Given the description of an element on the screen output the (x, y) to click on. 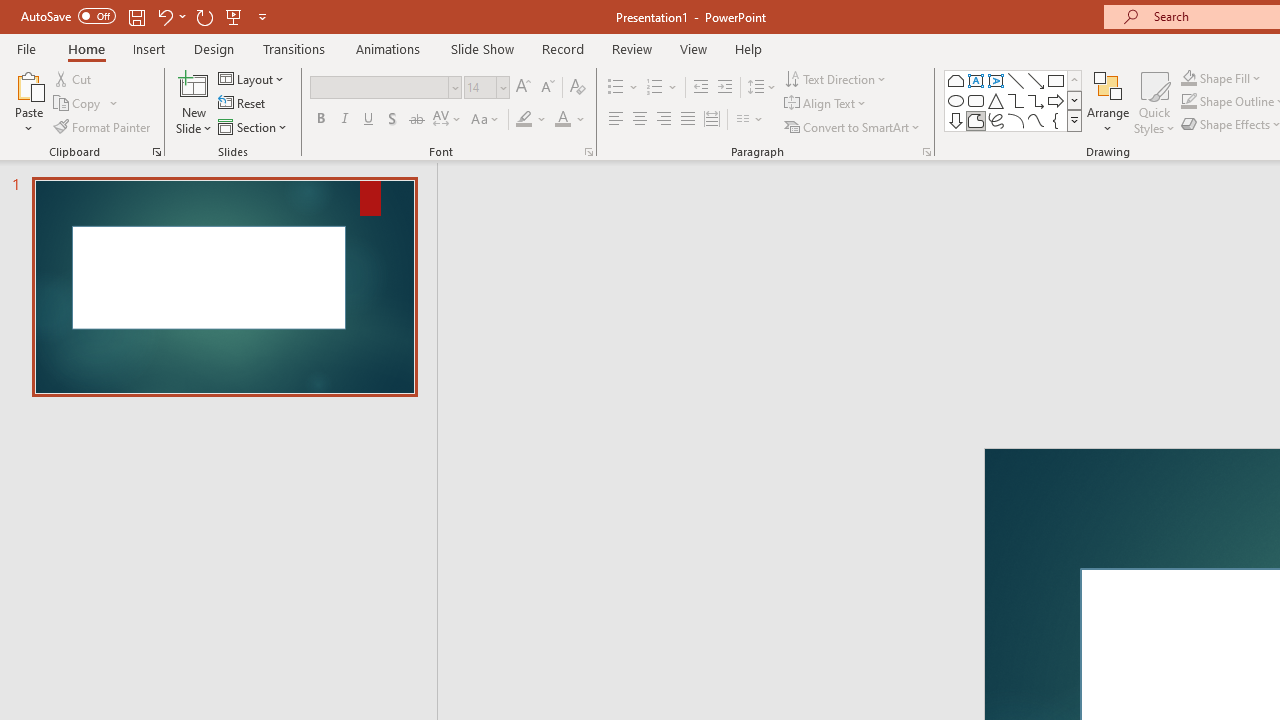
Convert to SmartArt (853, 126)
Align Right (663, 119)
Change Case (486, 119)
Decrease Indent (700, 87)
